Given the description of an element on the screen output the (x, y) to click on. 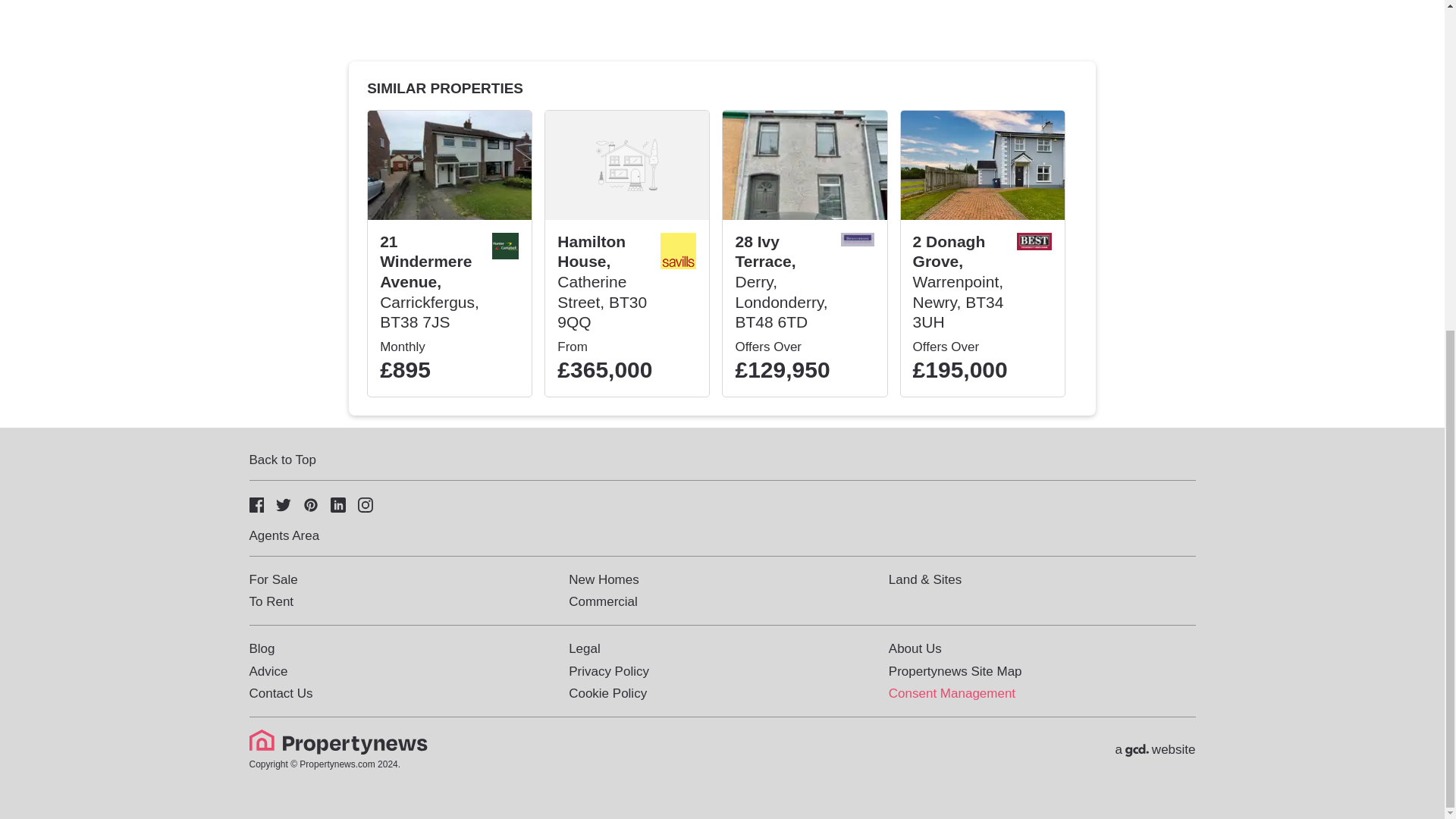
Blog (261, 648)
Instagram (365, 503)
Go back to the homepage (339, 749)
awebsite (1155, 749)
Pin us on Pinterest (310, 503)
Contact Us (280, 693)
Consent Management (951, 693)
New Homes (604, 579)
28 Ivy Terrace, Derry, Londonderry, BT48 6TD (781, 281)
Contact Propertynews.com (280, 693)
